Given the description of an element on the screen output the (x, y) to click on. 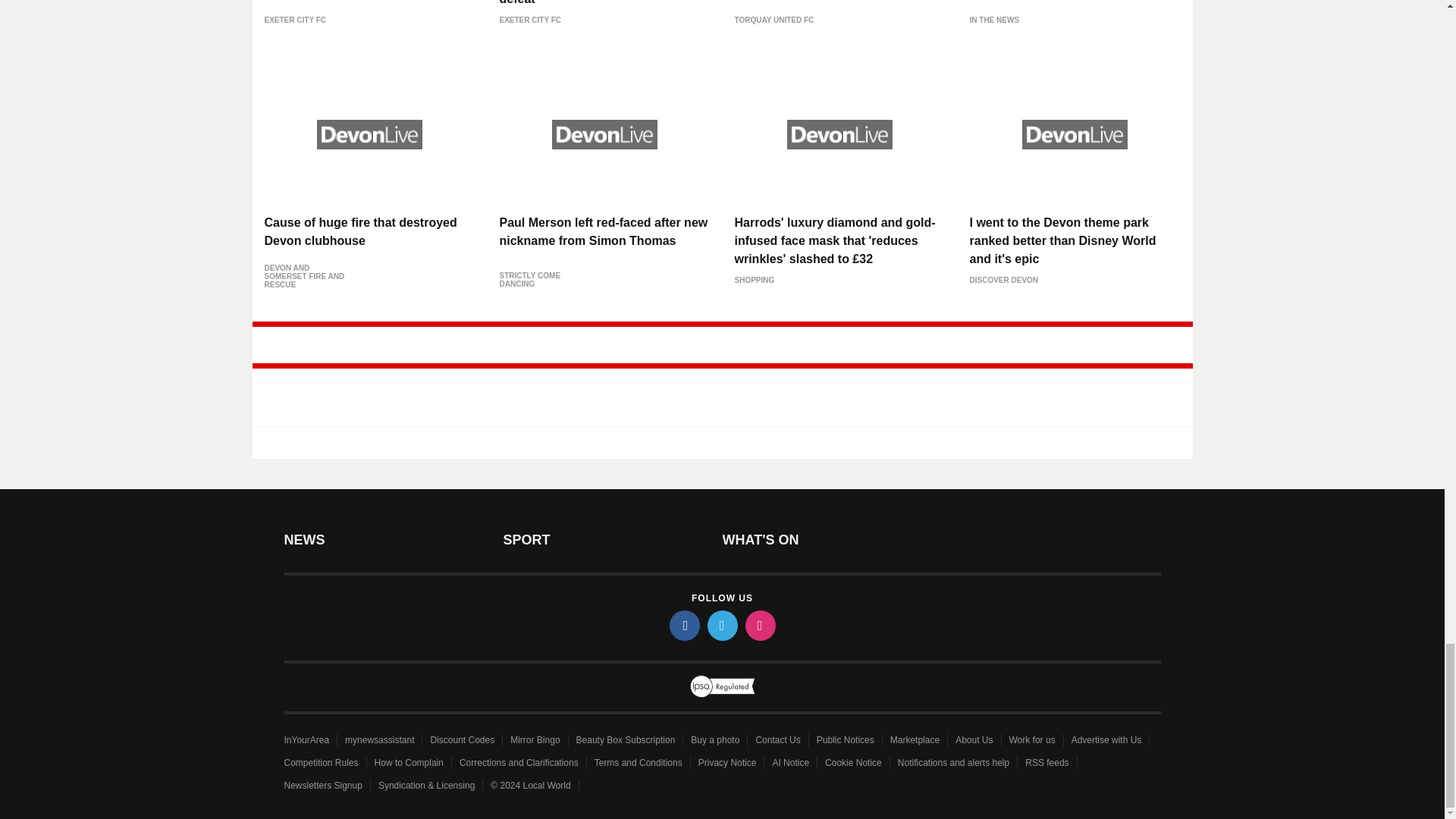
facebook (683, 625)
twitter (721, 625)
instagram (759, 625)
